Given the description of an element on the screen output the (x, y) to click on. 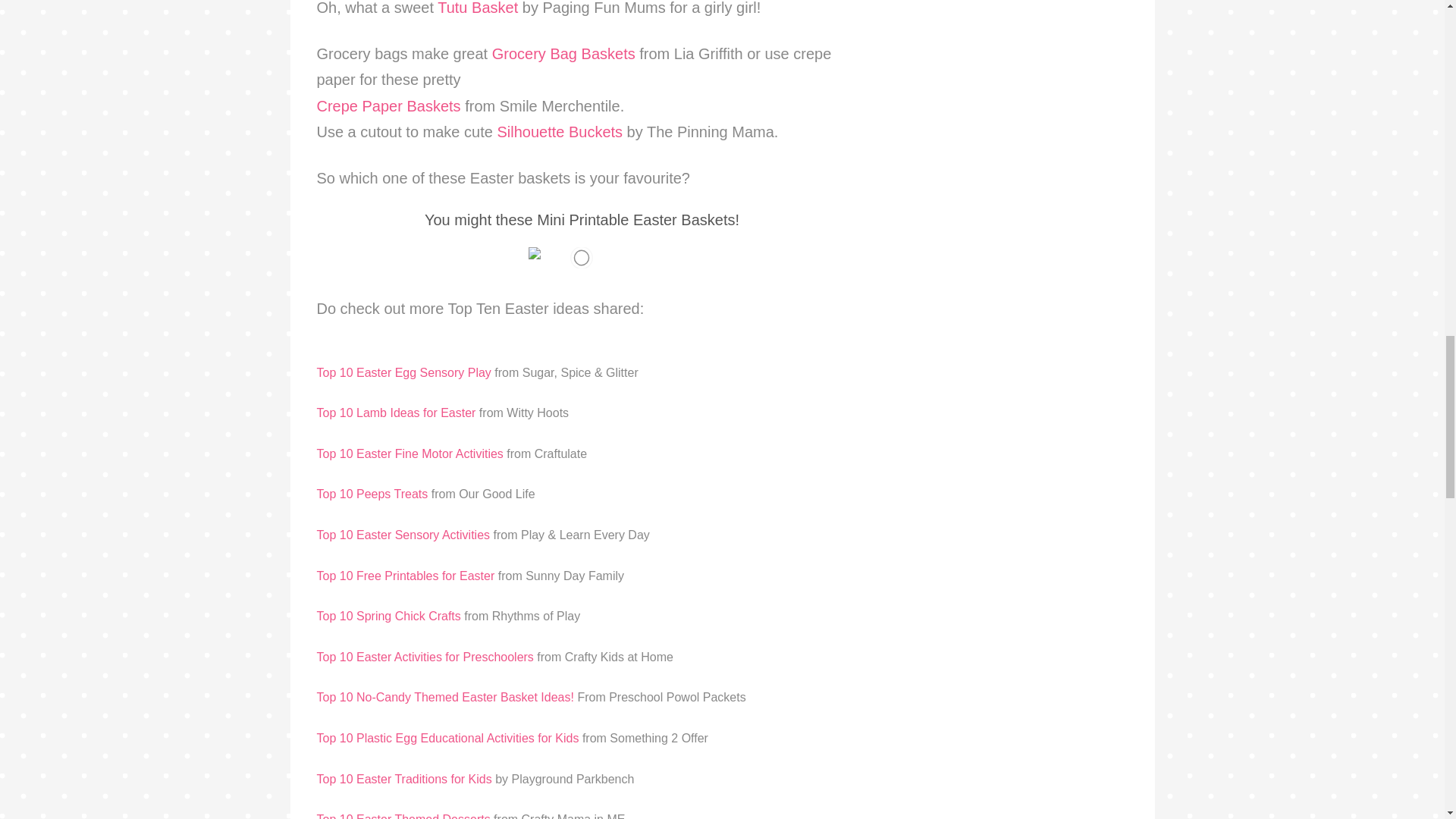
Tutu Basket (478, 7)
Crepe Paper Baskets (389, 105)
Silhouette Buckets (559, 131)
Grocery Bag Baskets (563, 53)
